Given the description of an element on the screen output the (x, y) to click on. 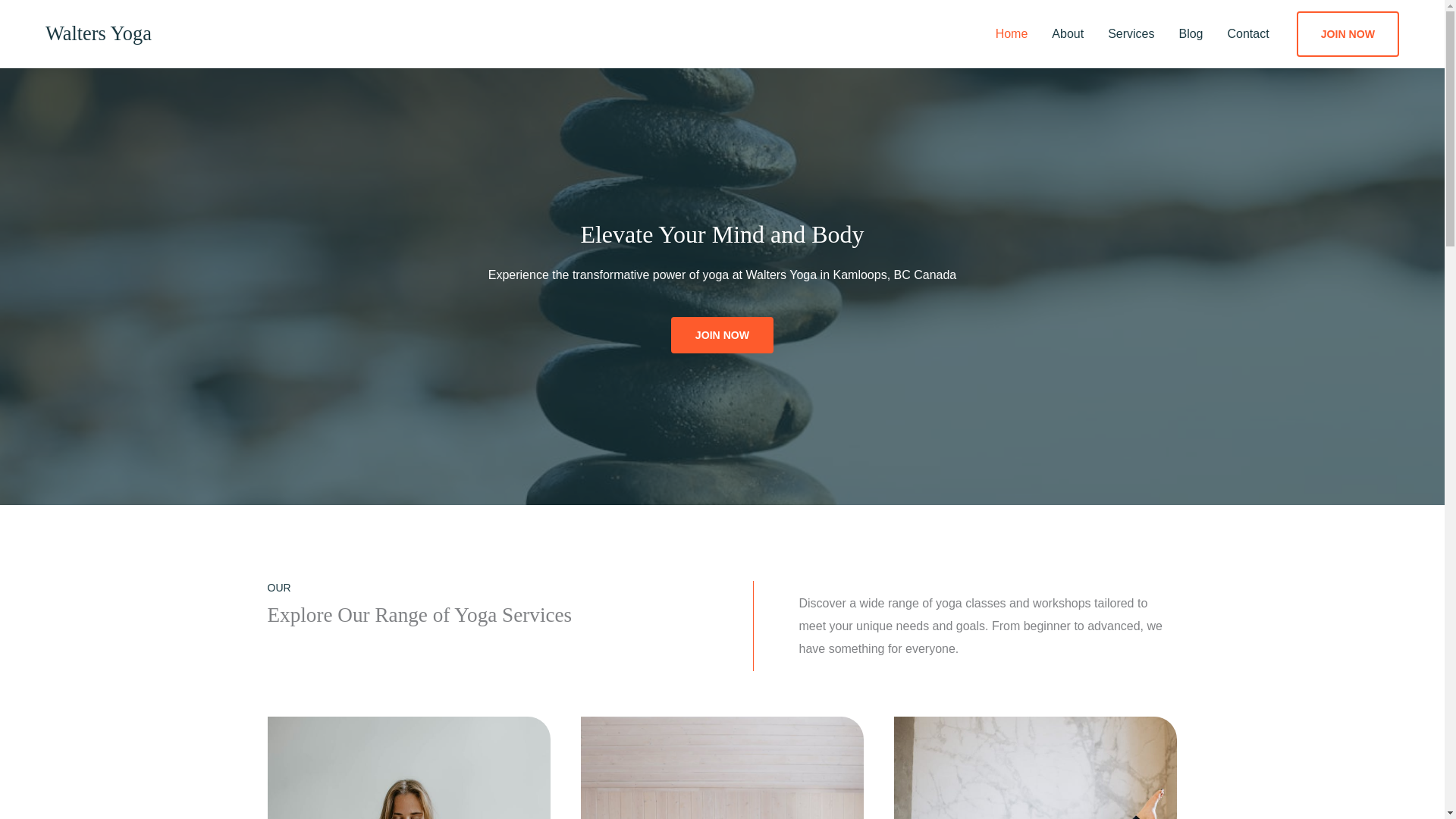
Walters Yoga (98, 33)
Contact (1248, 33)
Services (1131, 33)
JOIN NOW (722, 334)
service-04 (721, 767)
service-02 (408, 767)
service-06 (1034, 767)
JOIN NOW (1348, 33)
